Given the description of an element on the screen output the (x, y) to click on. 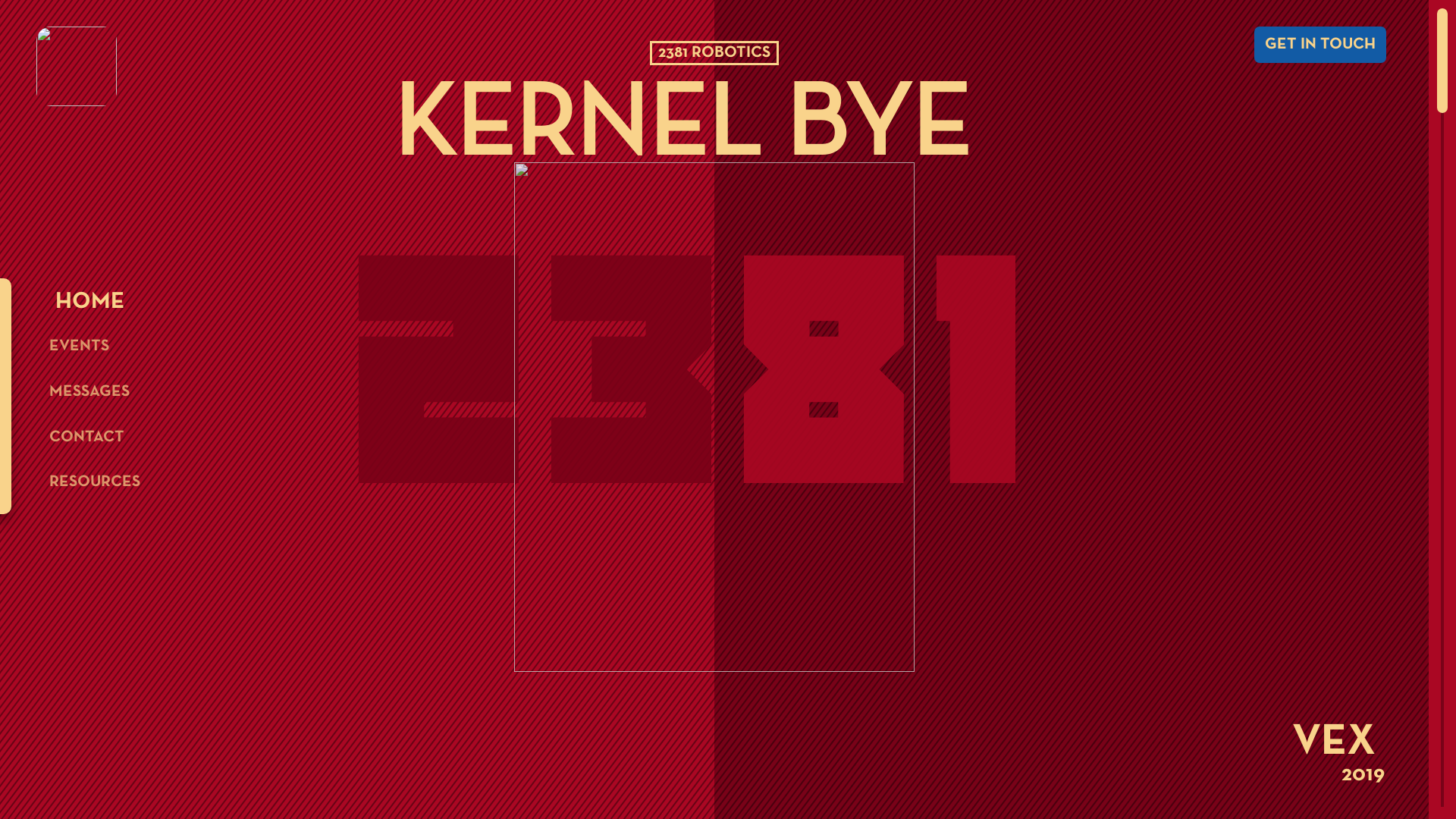
GET IN TOUCH Element type: text (1320, 44)
MESSAGES Element type: text (89, 391)
2381 ROBOTICS Element type: text (714, 43)
CONTACT Element type: text (86, 436)
HOME Element type: text (86, 301)
RESOURCES Element type: text (94, 481)
EVENTS Element type: text (79, 345)
